Given the description of an element on the screen output the (x, y) to click on. 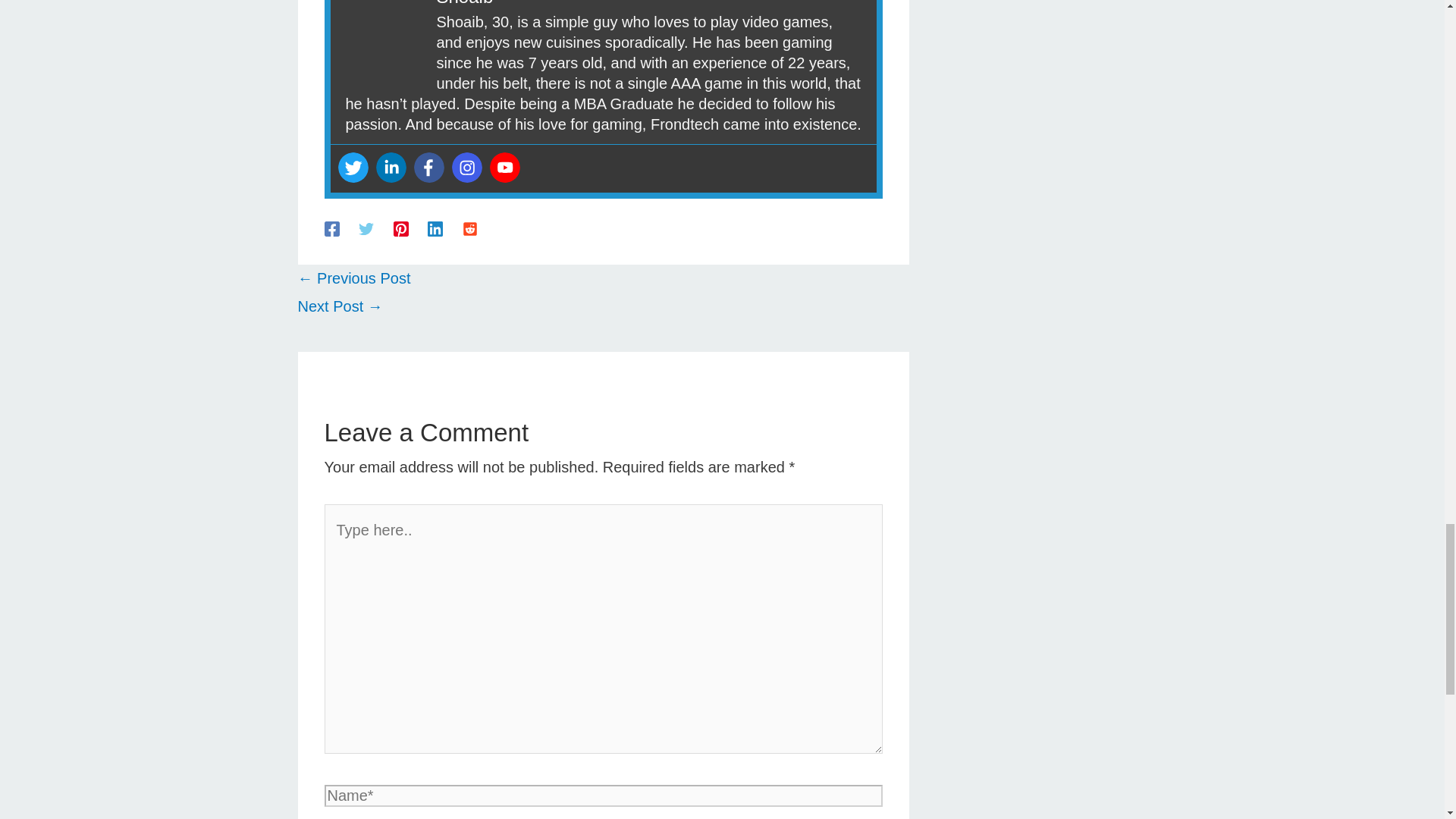
Youtube (504, 167)
Facebook (428, 167)
NBA 2K24 2KTV Episode 24 Answers (353, 278)
Shoaib (464, 3)
Helldivers 2 Controls and Key Bindings (339, 306)
Linkedin (390, 167)
Twitter (352, 167)
Instagram (466, 167)
